Given the description of an element on the screen output the (x, y) to click on. 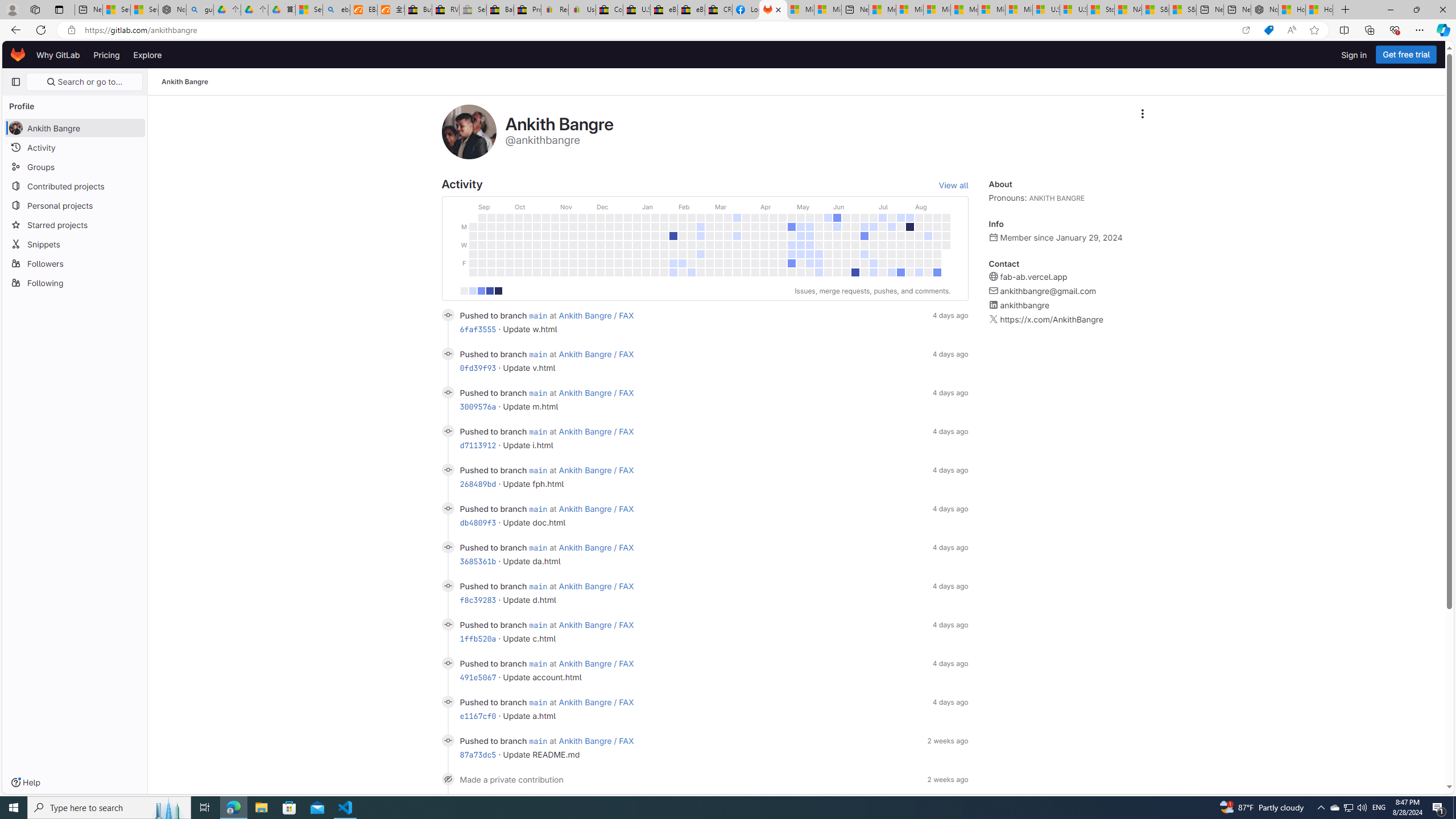
Sell worldwide with eBay - Sleeping (473, 9)
Microsoft account | Home (936, 9)
guge yunpan - Search (200, 9)
